Given the description of an element on the screen output the (x, y) to click on. 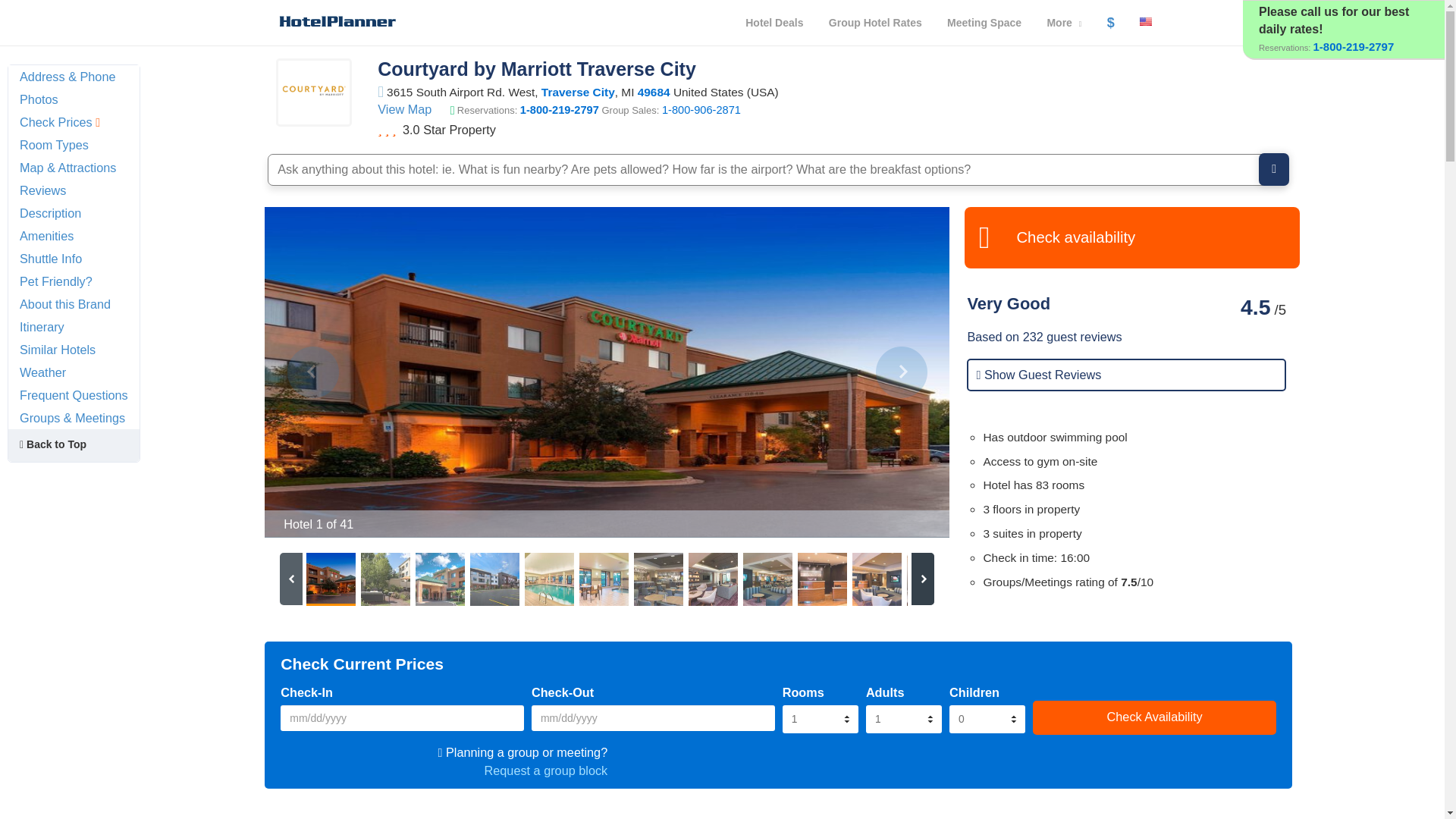
Traverse City (577, 91)
View Map (403, 109)
More (1064, 22)
Group Hotel Rates (874, 22)
49684 (653, 91)
Hotel Deals (773, 22)
Meeting Space (984, 22)
